Given the description of an element on the screen output the (x, y) to click on. 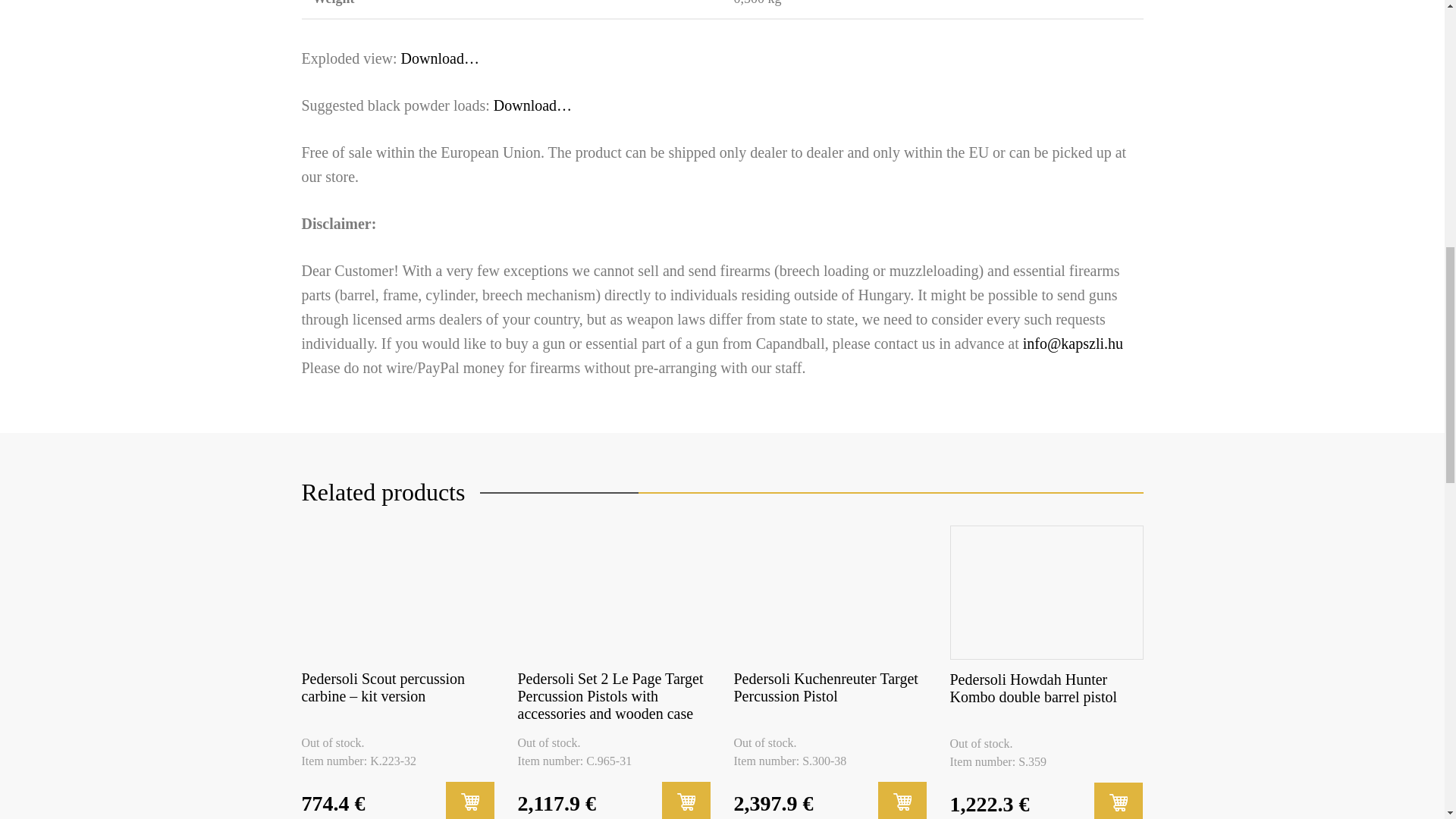
Suggested black powder loads Pedersoli (532, 105)
Exploded view Pedersoli Zimmer (440, 57)
